Given the description of an element on the screen output the (x, y) to click on. 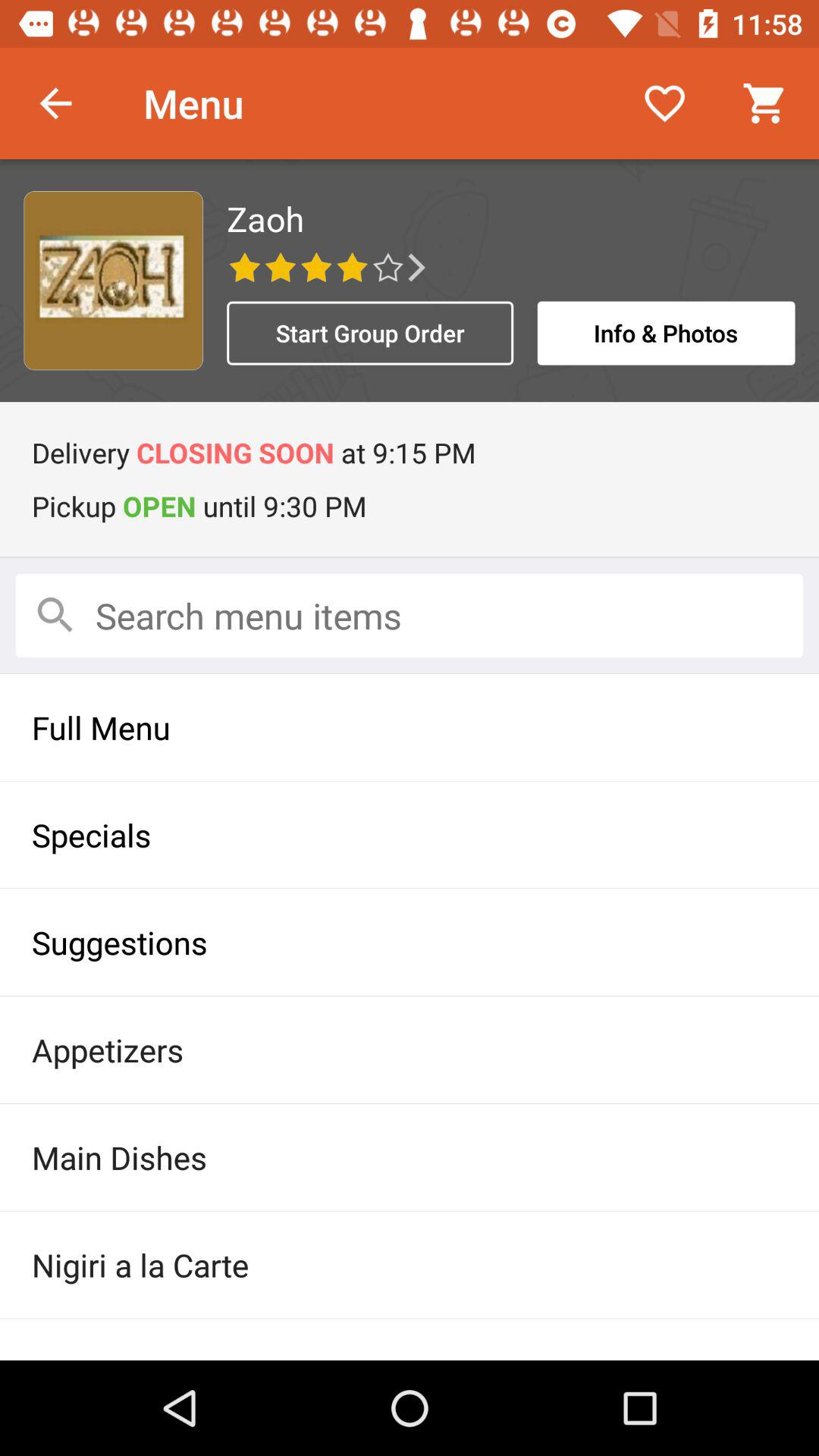
open the icon below main dishes (409, 1264)
